Given the description of an element on the screen output the (x, y) to click on. 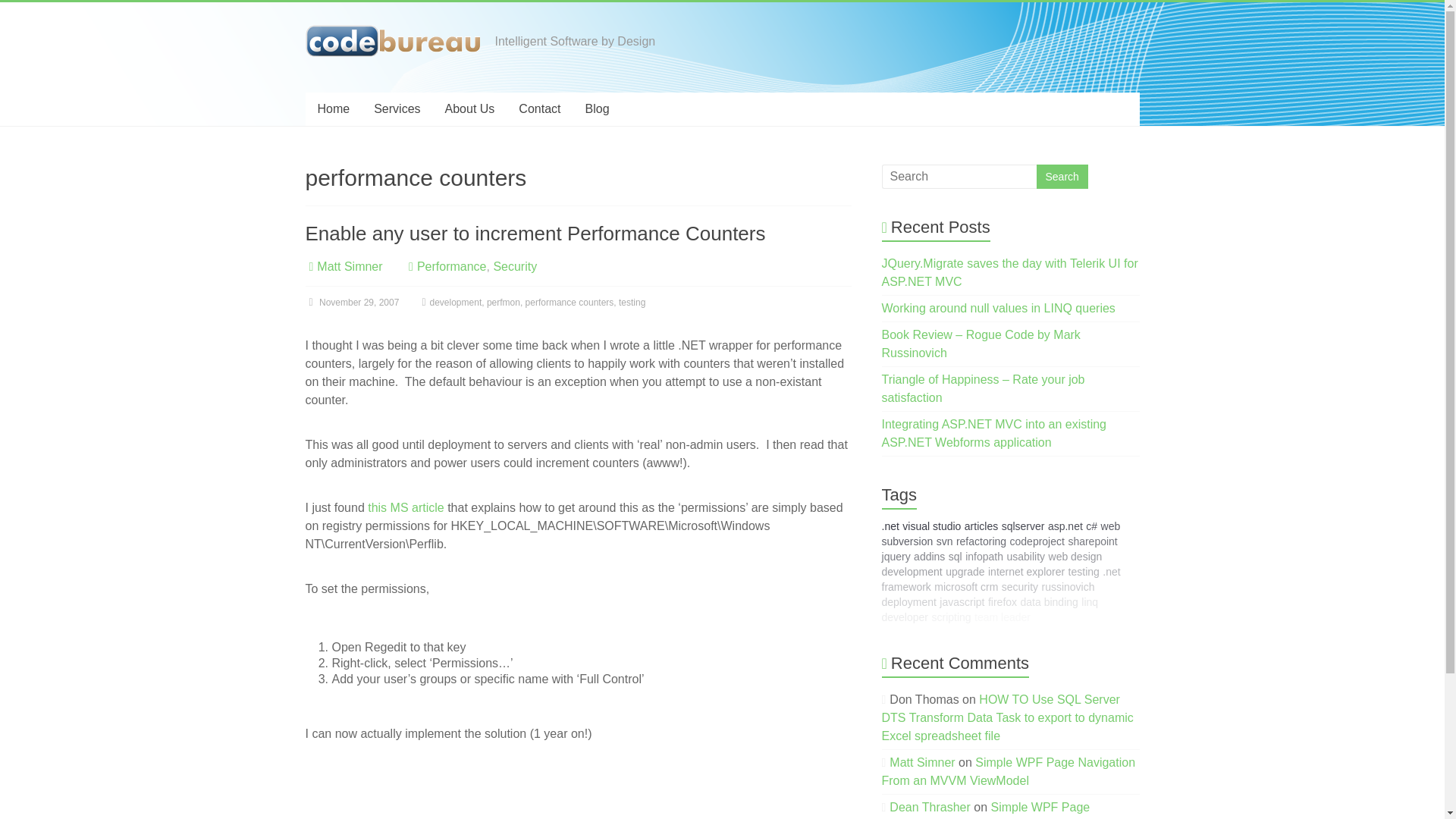
Search (1061, 176)
Matt Simner (349, 266)
Matt Simner (349, 266)
Search (1061, 176)
Security (515, 266)
perfmon (502, 302)
visual studio (931, 526)
Services (396, 109)
Home (332, 109)
Contact (539, 109)
Enable any user to increment Performance Counters (534, 232)
testing (631, 302)
codeproject (1037, 541)
11:17 pm (351, 302)
